Given the description of an element on the screen output the (x, y) to click on. 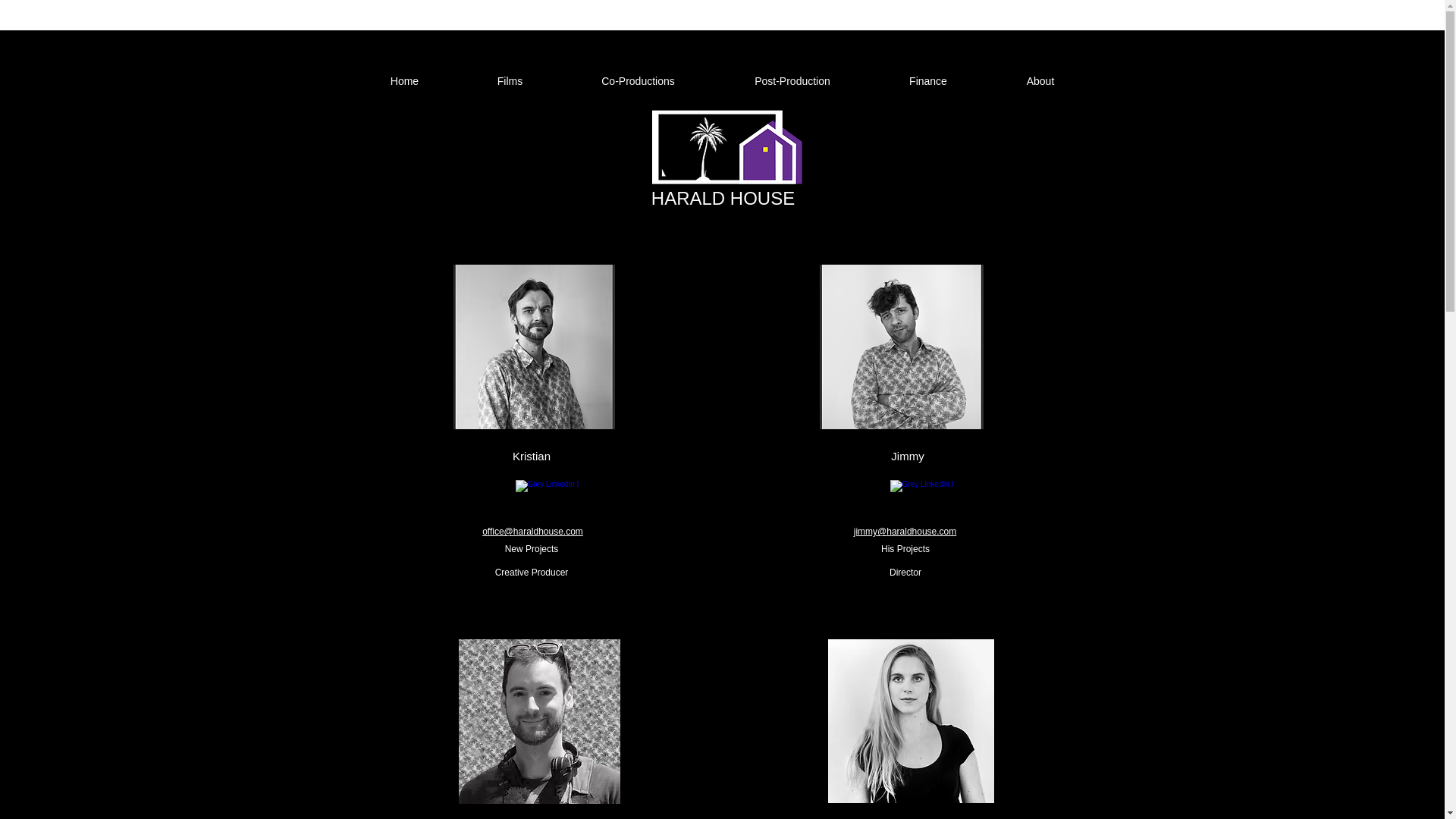
Post-Production (791, 80)
guy2.jpg (539, 721)
guy2.jpg (533, 346)
Co-Productions (637, 80)
Home (404, 80)
About (1039, 80)
guy4.jpg (900, 346)
Finance (928, 80)
Films (509, 80)
